Given the description of an element on the screen output the (x, y) to click on. 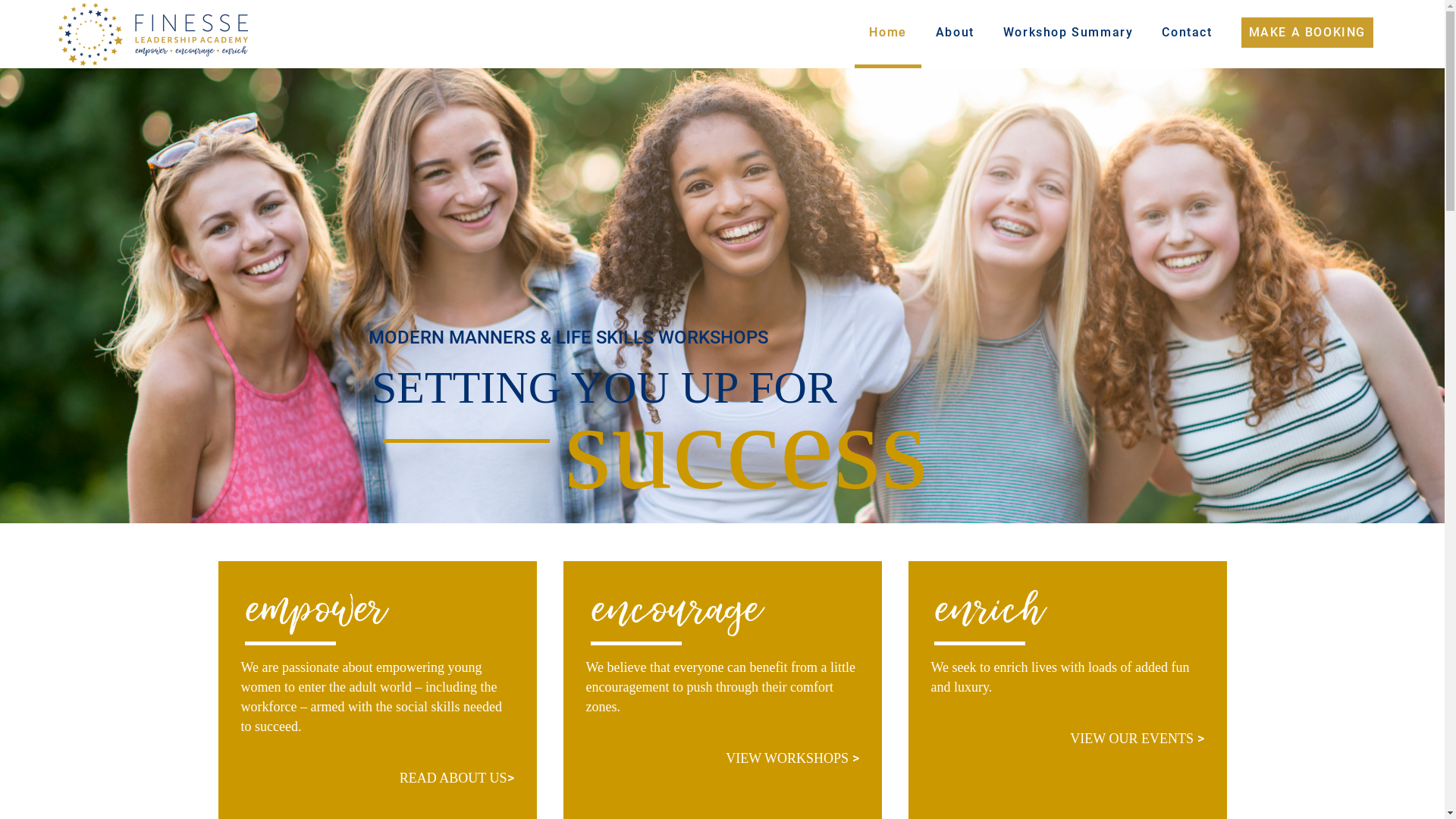
Workshop Summary Element type: text (1068, 34)
VIEW OUR EVENTS > Element type: text (1136, 738)
Home Element type: text (887, 34)
MAKE A BOOKING Element type: text (1306, 34)
About Element type: text (954, 34)
VIEW WORKSHOPS > Element type: text (791, 757)
Contact Element type: text (1186, 34)
READ ABOUT US> Element type: text (456, 777)
